Given the description of an element on the screen output the (x, y) to click on. 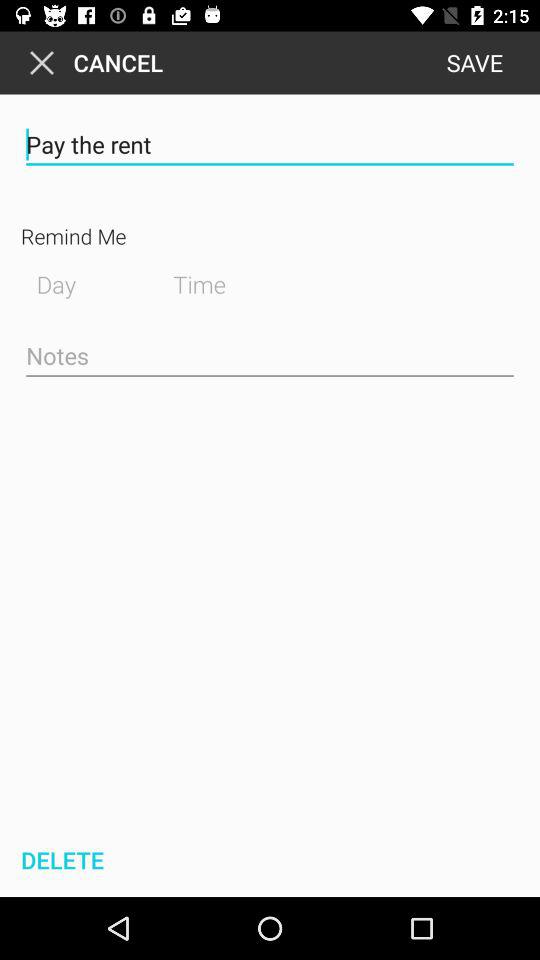
tap pay the rent item (270, 144)
